Given the description of an element on the screen output the (x, y) to click on. 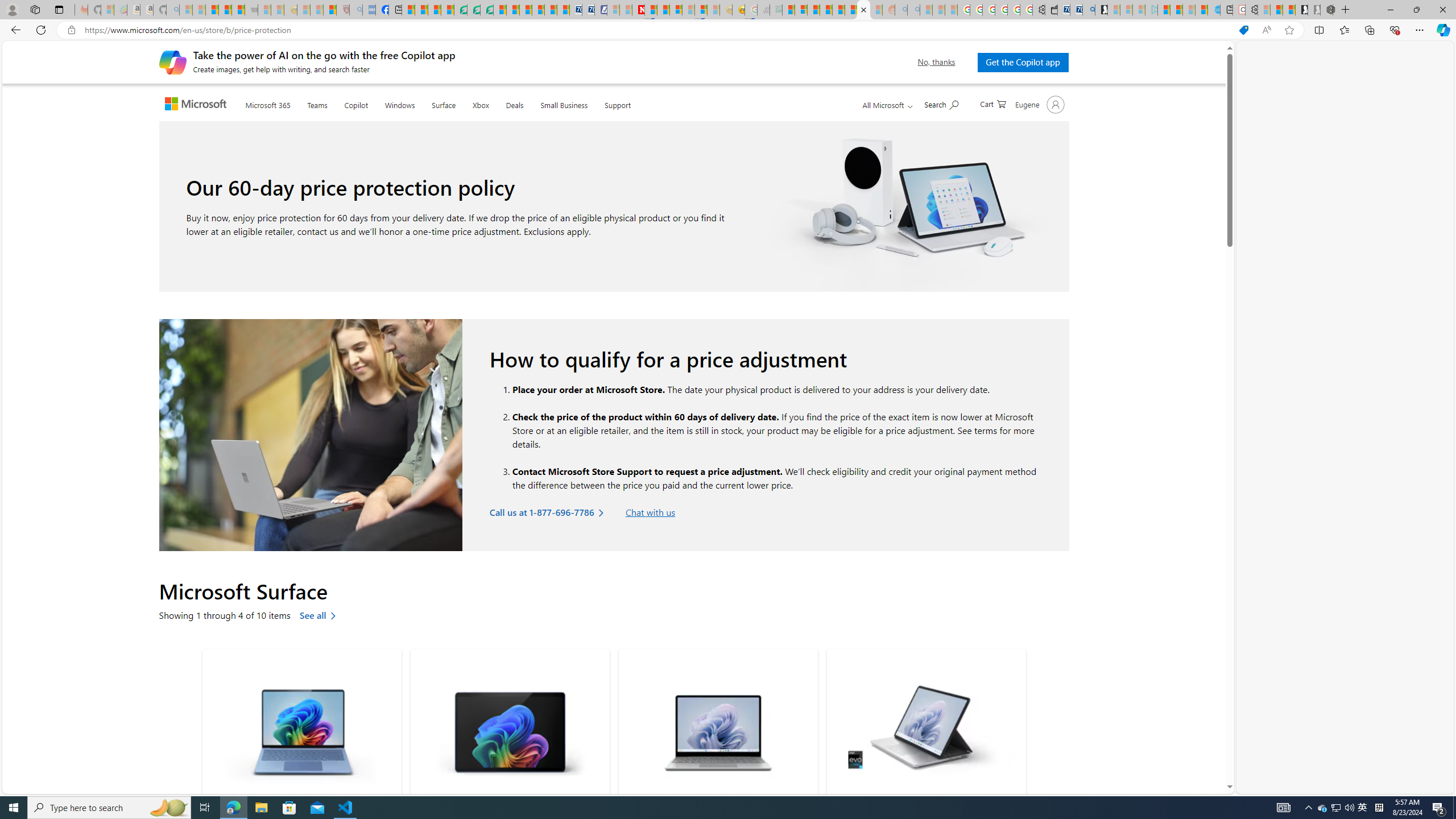
MSNBC - MSN (788, 9)
Local - MSN (329, 9)
Student Loan Update: Forgiveness Program Ends This Month (826, 9)
